Given the description of an element on the screen output the (x, y) to click on. 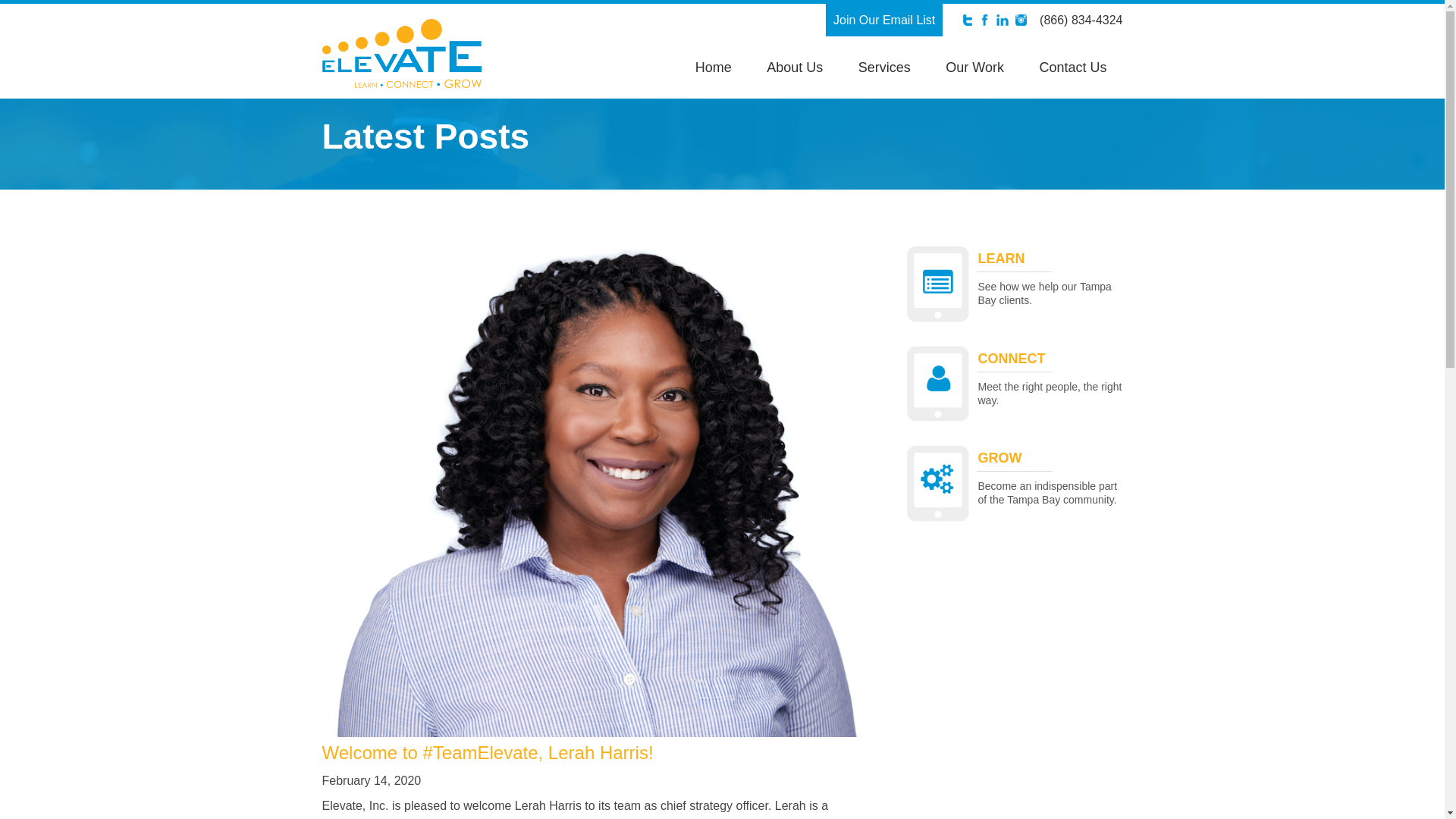
Home (713, 66)
Services (884, 66)
Contact Us (1072, 66)
Join Our Email List (883, 20)
About Us (794, 66)
Our Work (974, 66)
